Given the description of an element on the screen output the (x, y) to click on. 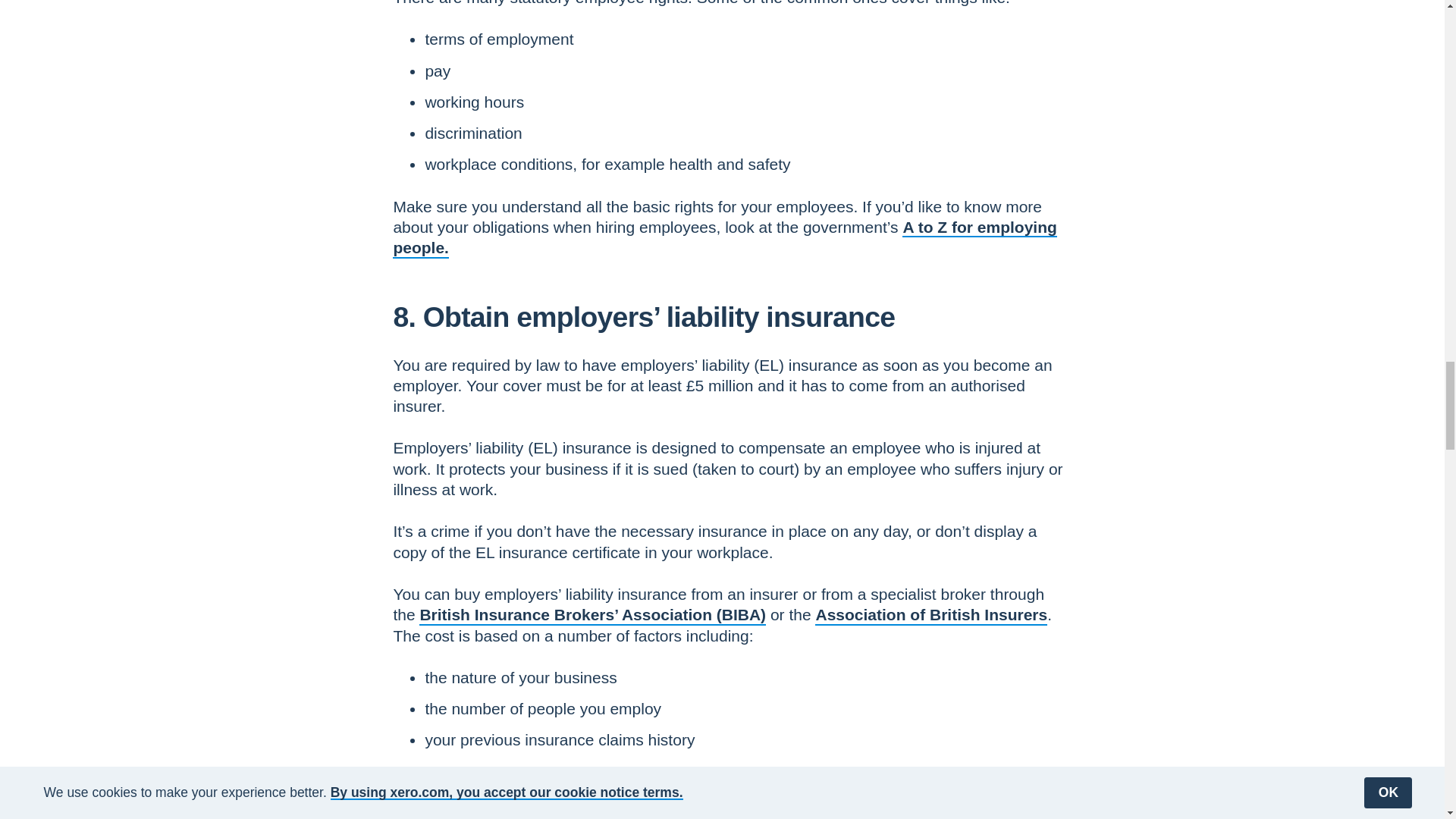
Association of British Insurers (930, 614)
A to Z for employing people. (725, 237)
